Given the description of an element on the screen output the (x, y) to click on. 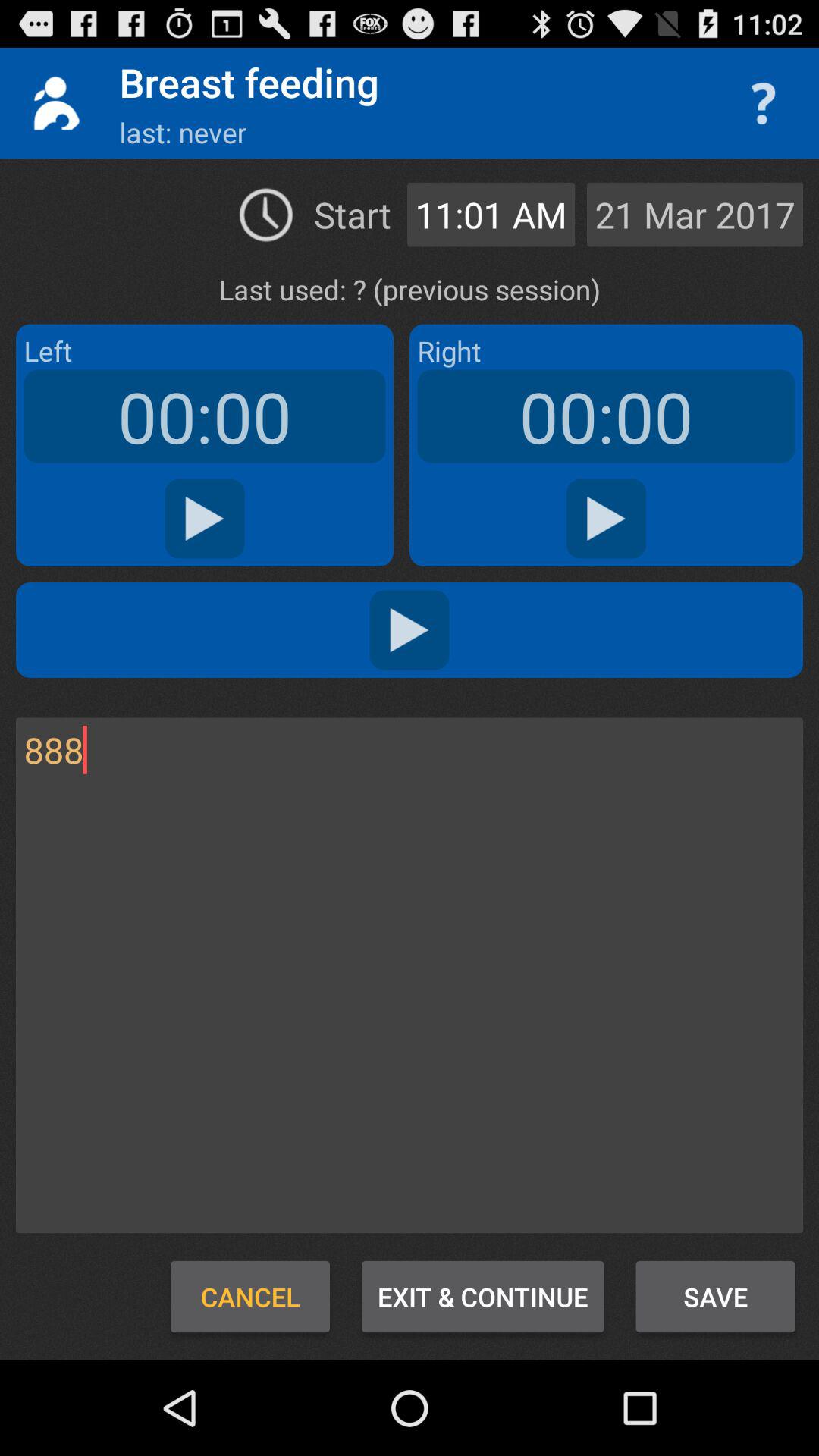
play left and right (409, 629)
